Given the description of an element on the screen output the (x, y) to click on. 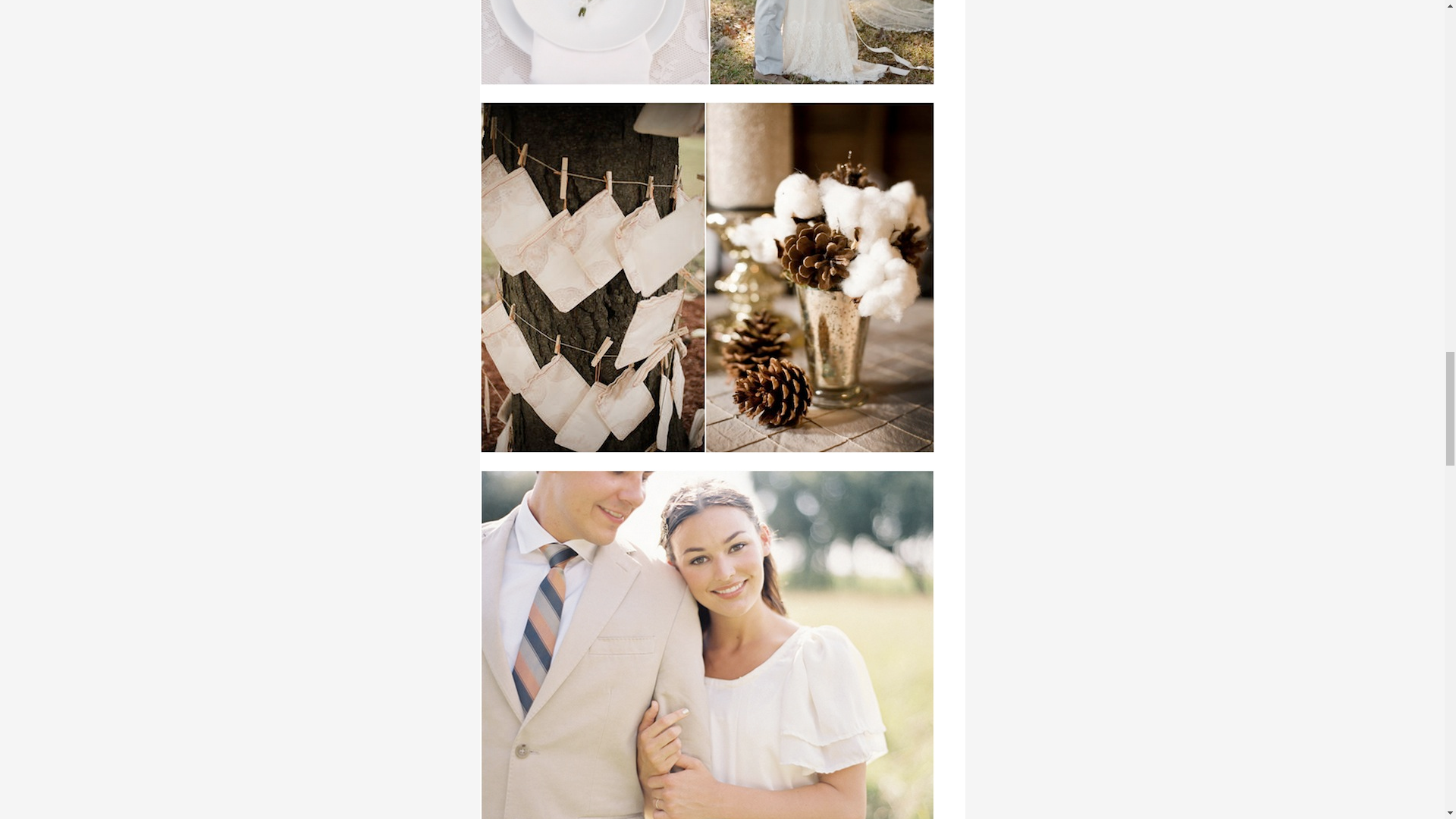
Cotton Wedding Inspiration (707, 42)
